Given the description of an element on the screen output the (x, y) to click on. 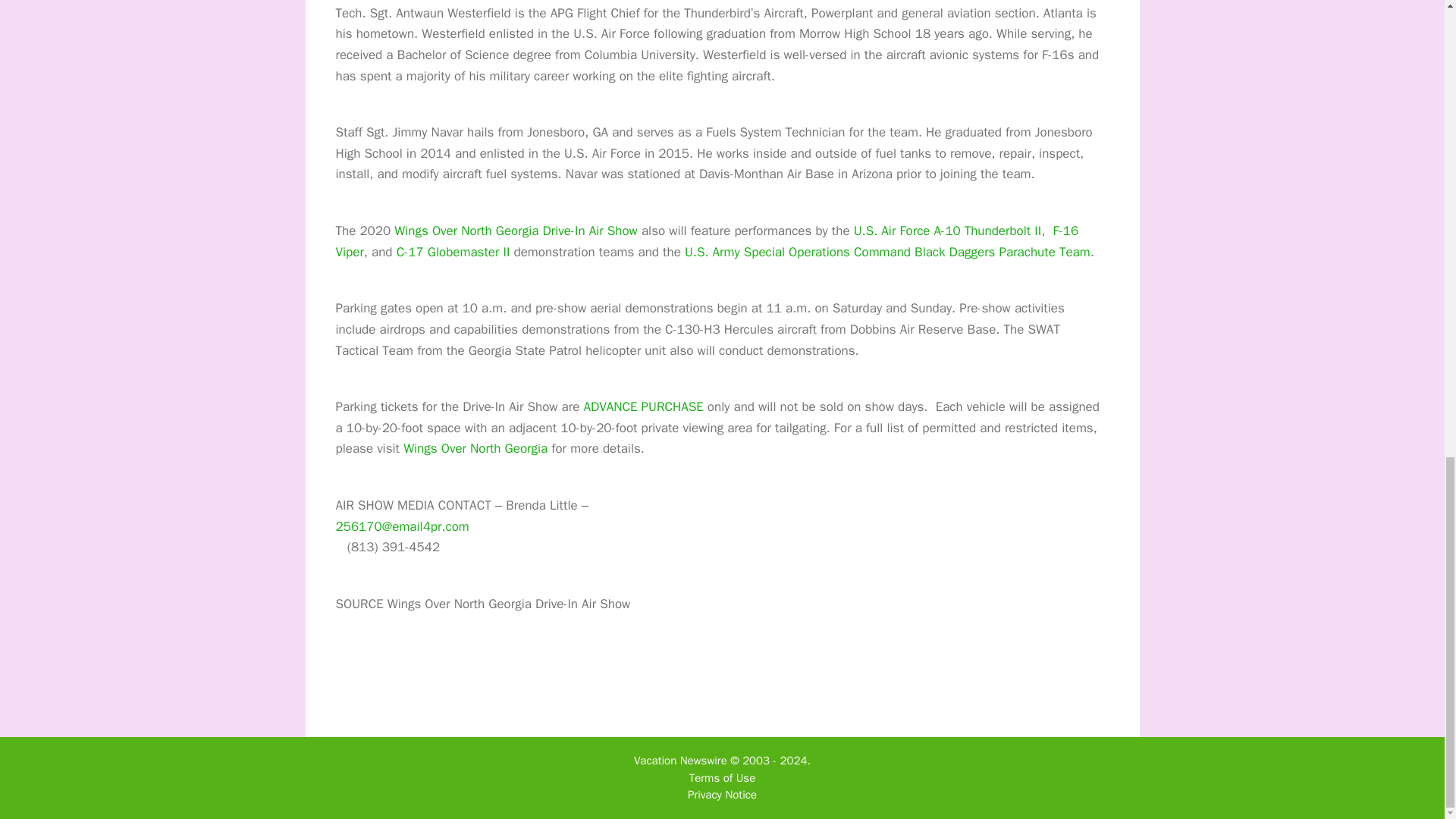
F-16 Viper (706, 241)
Privacy Notice (722, 794)
Terms of Use (721, 777)
Wings Over North Georgia Drive-In Air Show (515, 230)
U.S. Air Force A-10 Thunderbolt II (947, 230)
ADVANCE PURCHASE (643, 406)
C-17 Globemaster II (453, 252)
Wings Over North Georgia (475, 448)
